Given the description of an element on the screen output the (x, y) to click on. 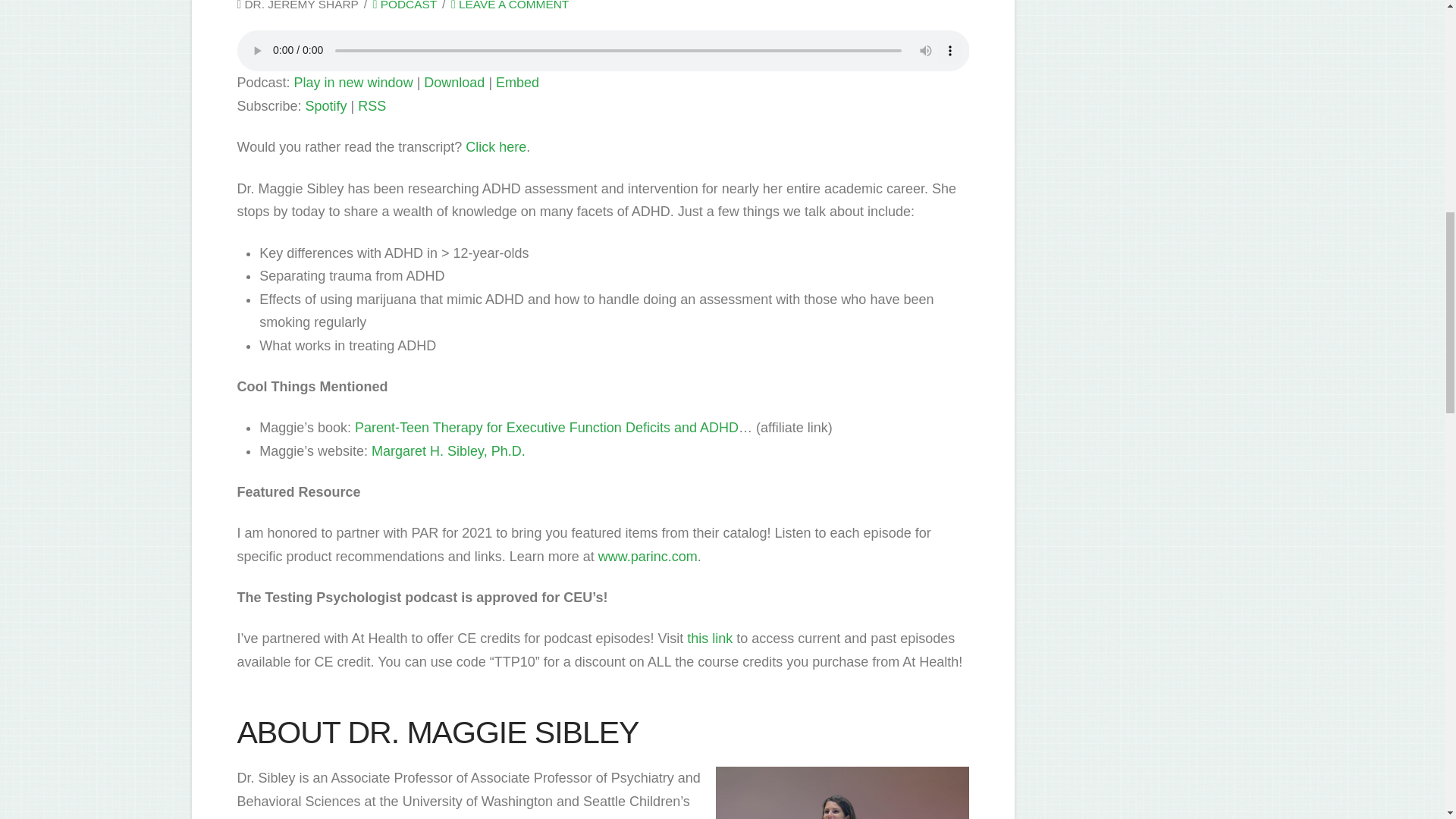
Download (453, 82)
RSS (371, 105)
PODCAST (404, 5)
Embed (517, 82)
Play in new window (353, 82)
LEAVE A COMMENT (510, 5)
Spotify (326, 105)
Play in new window (353, 82)
this link (707, 638)
Embed (517, 82)
Margaret H. Sibley, Ph.D. (448, 450)
Download (453, 82)
Parent-Teen Therapy for Executive Function Deficits and ADHD (546, 427)
www.parinc.com (645, 556)
Subscribe on Spotify (326, 105)
